Given the description of an element on the screen output the (x, y) to click on. 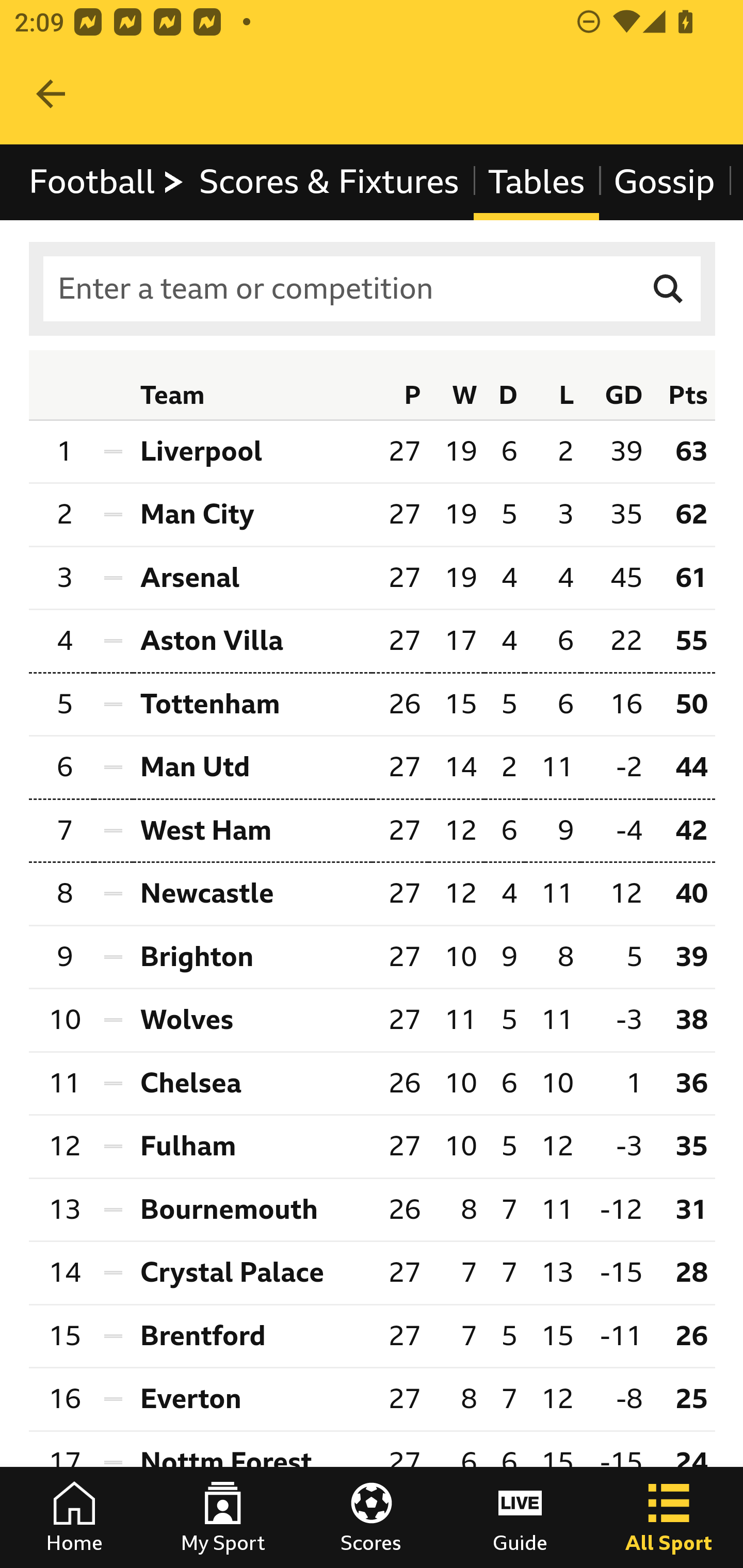
Navigate up (50, 93)
Football  (106, 181)
Scores & Fixtures (329, 181)
Tables (536, 181)
Gossip (664, 181)
Search (669, 289)
Liverpool (252, 450)
Man City Manchester City (252, 514)
Arsenal (252, 577)
Aston Villa (252, 640)
Tottenham Tottenham Hotspur (252, 704)
Man Utd Manchester United (252, 768)
West Ham West Ham United (252, 830)
Newcastle Newcastle United (252, 894)
Brighton Brighton & Hove Albion (252, 957)
Wolves Wolverhampton Wanderers (252, 1020)
Chelsea (252, 1082)
Fulham (252, 1145)
Bournemouth AFC Bournemouth (252, 1209)
Crystal Palace (252, 1271)
Brentford (252, 1335)
Everton (252, 1399)
Home (74, 1517)
My Sport (222, 1517)
Scores (371, 1517)
Guide (519, 1517)
